Given the description of an element on the screen output the (x, y) to click on. 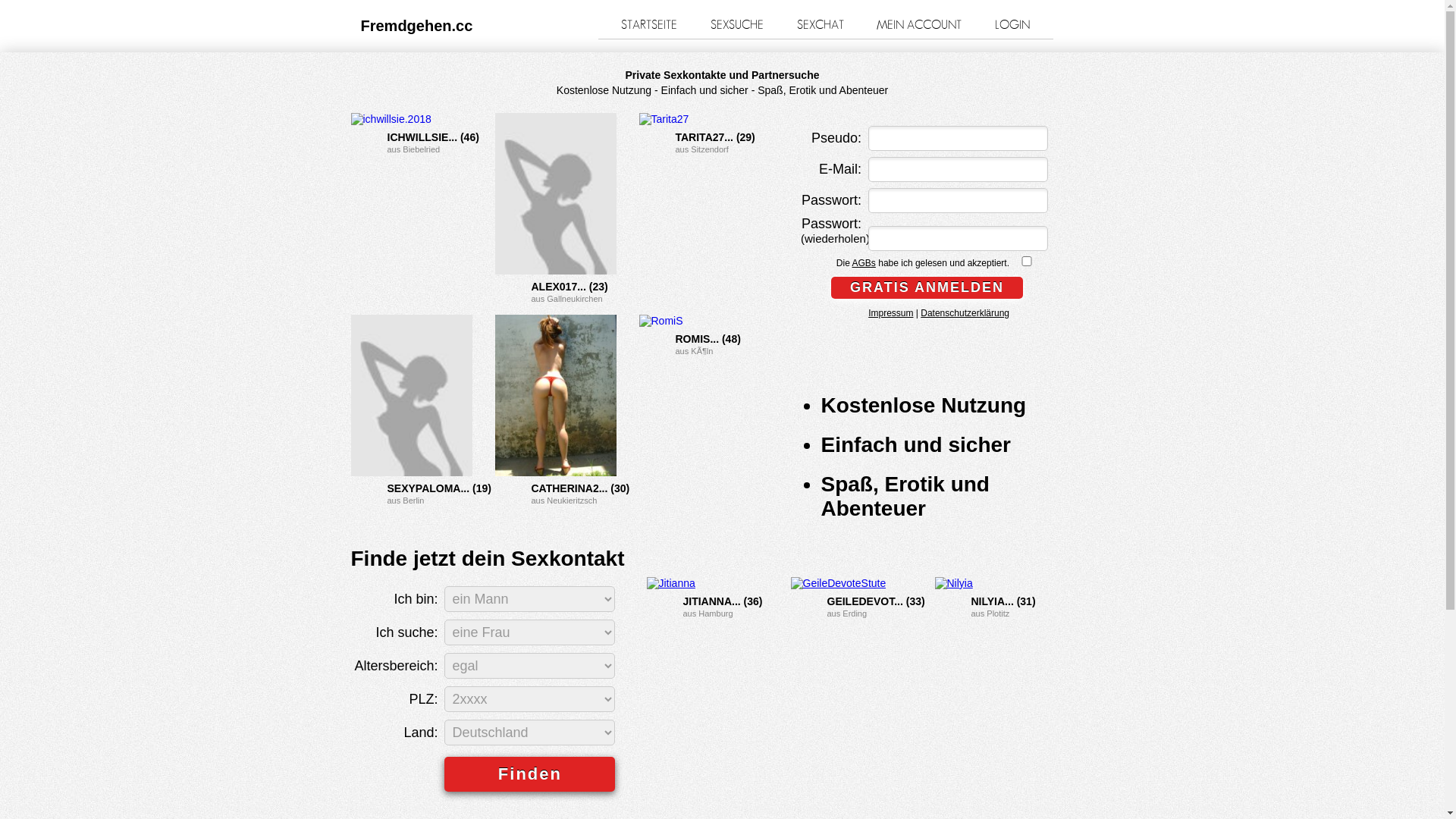
SEXSUCHE Element type: text (736, 24)
Finden Element type: text (529, 773)
SEXCHAT Element type: text (819, 24)
Fremdgehen.cc Element type: text (416, 25)
MEIN ACCOUNT Element type: text (918, 24)
LOGIN Element type: text (1011, 24)
STARTSEITE Element type: text (648, 24)
